Given the description of an element on the screen output the (x, y) to click on. 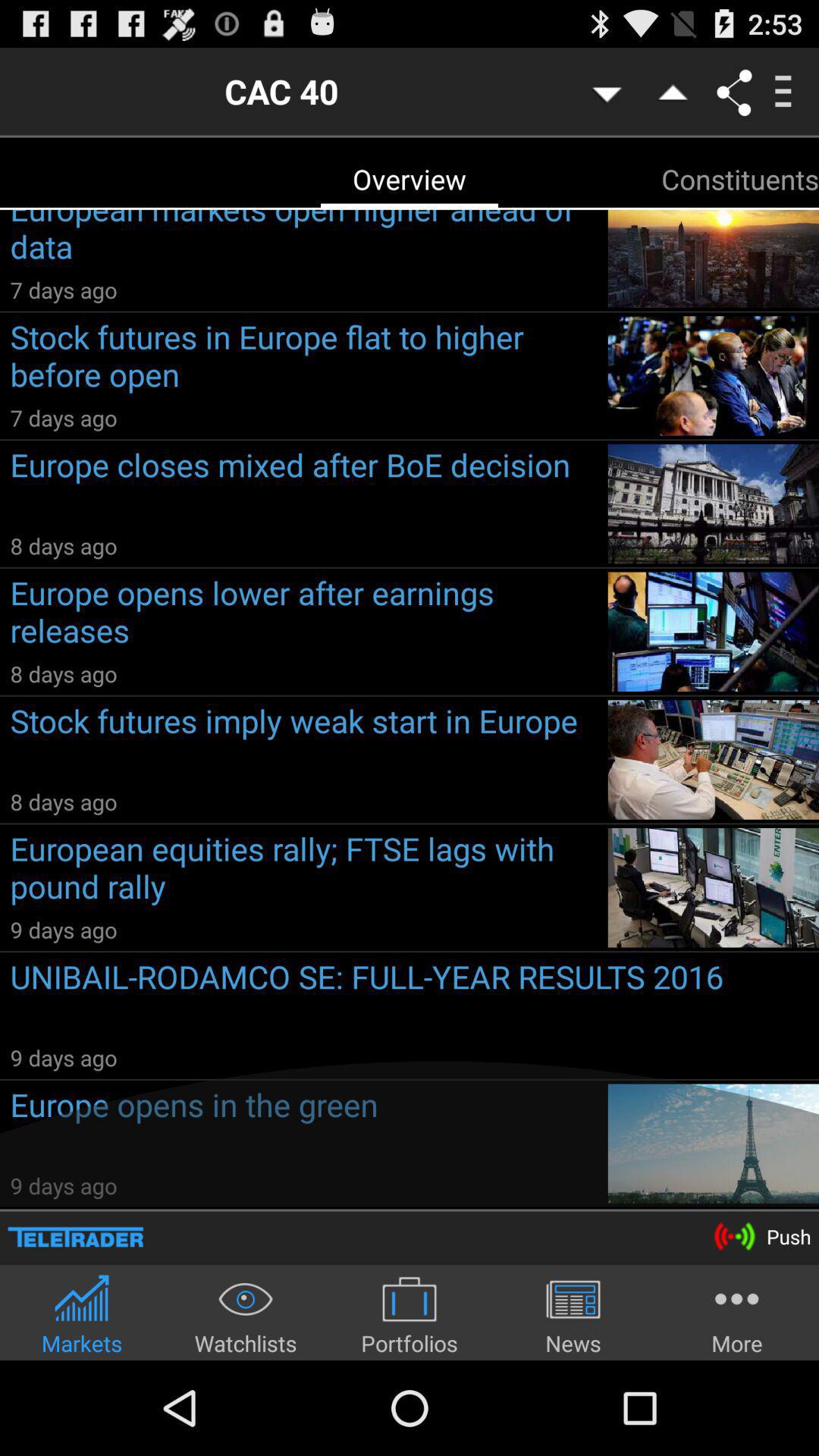
select item to the right of the portfolios item (573, 1314)
